Given the description of an element on the screen output the (x, y) to click on. 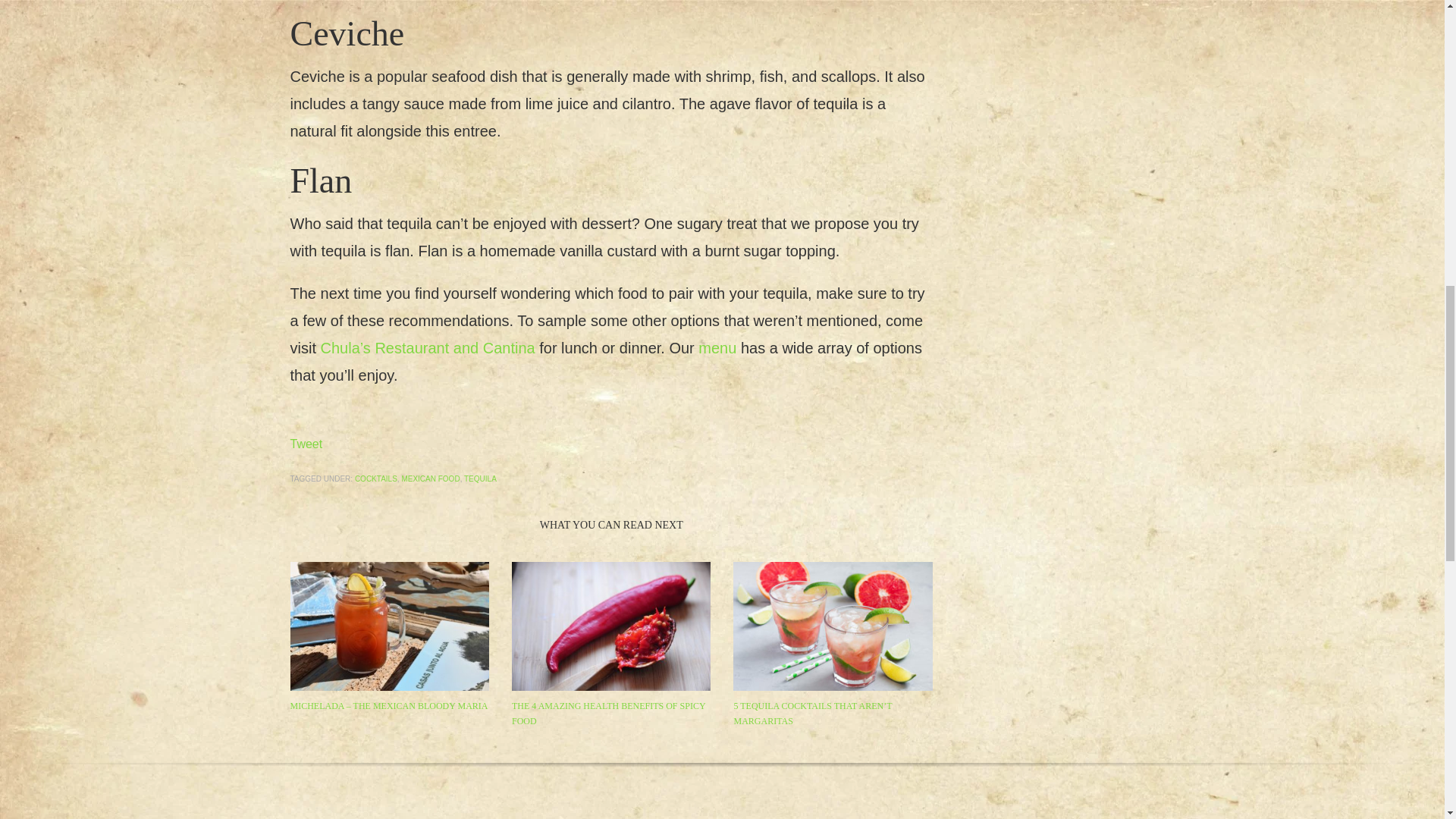
THE 4 AMAZING HEALTH BENEFITS OF SPICY FOOD (608, 713)
MEXICAN FOOD (430, 479)
TEQUILA (480, 479)
COCKTAILS (376, 479)
Aug blog image (388, 626)
menu (717, 347)
tequila-cocktail-drinks (832, 626)
Tweet (305, 443)
health benefits of spicy food (611, 626)
